Given the description of an element on the screen output the (x, y) to click on. 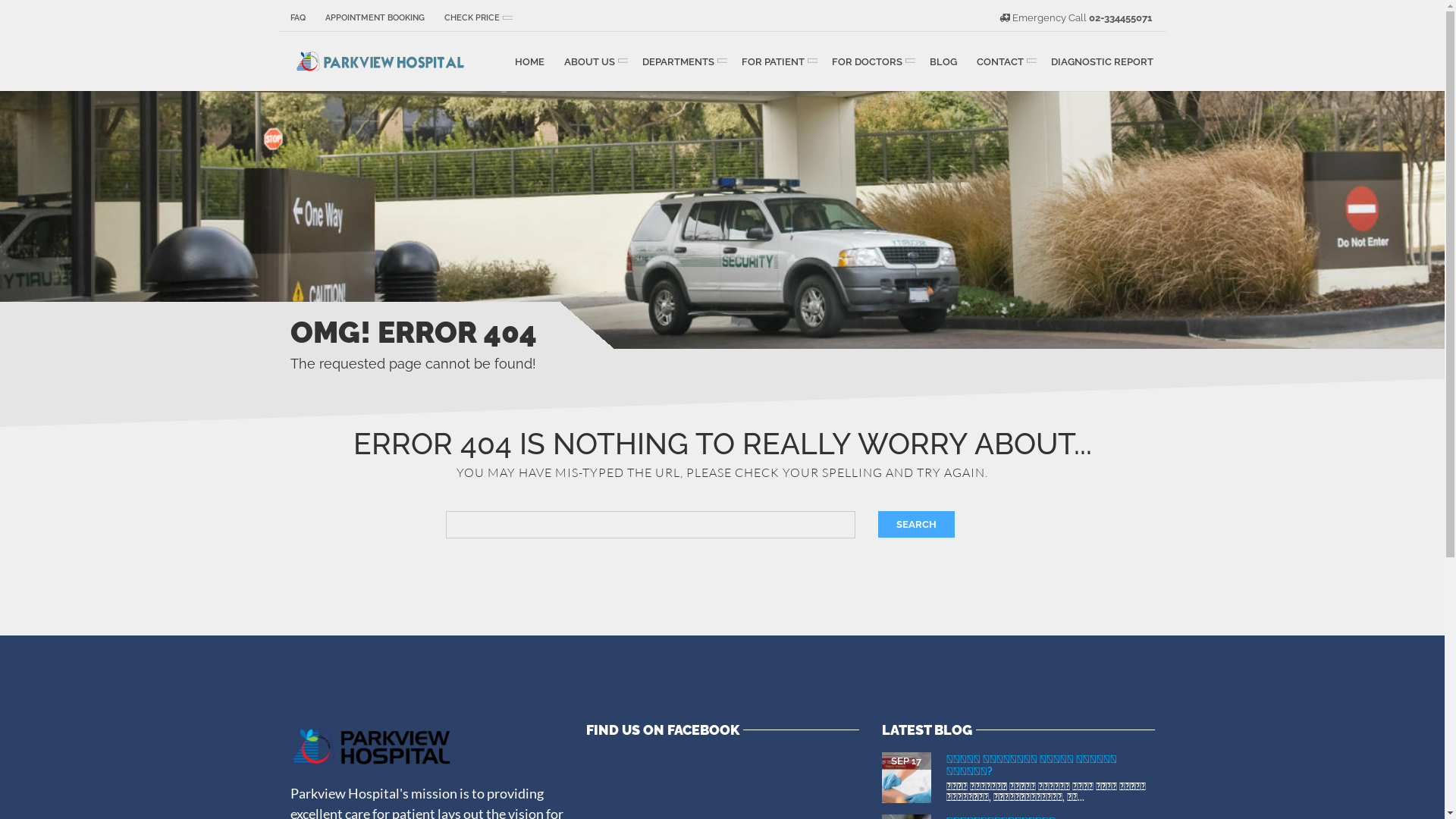
FOR PATIENT Element type: text (776, 60)
ABOUT US Element type: text (592, 60)
BLOG Element type: text (942, 60)
CHECK PRICE Element type: text (474, 17)
DIAGNOSTIC REPORT Element type: text (1101, 60)
FAQ Element type: text (301, 17)
CONTACT Element type: text (1003, 60)
02-334455071 Element type: text (1119, 17)
FOR DOCTORS Element type: text (870, 60)
HOME Element type: text (529, 60)
SEARCH Element type: text (916, 524)
APPOINTMENT BOOKING Element type: text (374, 17)
DEPARTMENTS Element type: text (681, 60)
